Given the description of an element on the screen output the (x, y) to click on. 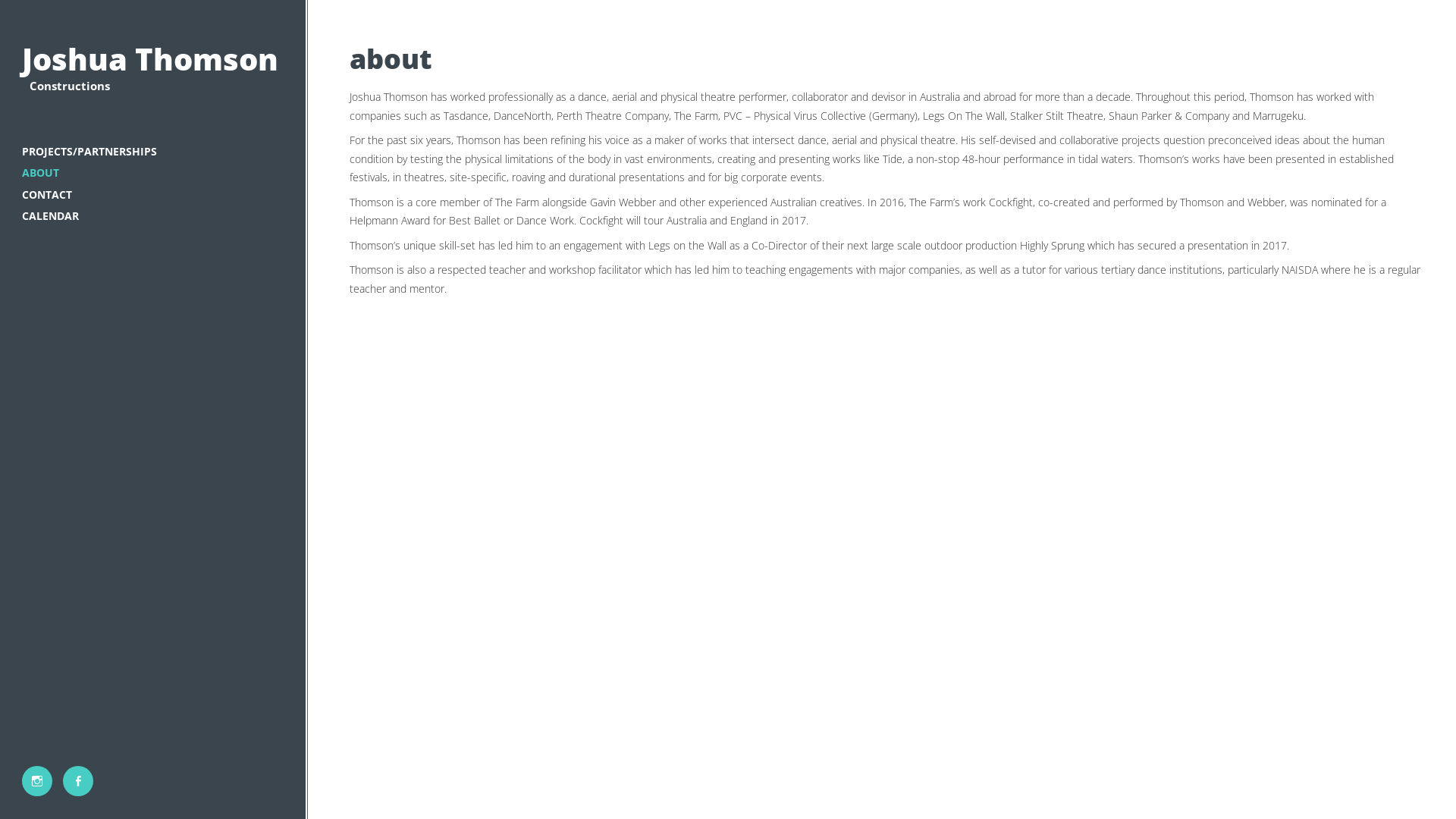
ABOUT Element type: text (152, 173)
PROJECTS/PARTNERSHIPS Element type: text (152, 152)
CONTACT Element type: text (152, 194)
CALENDAR Element type: text (152, 216)
Joshua Thomson
Constructions Element type: text (152, 70)
